Given the description of an element on the screen output the (x, y) to click on. 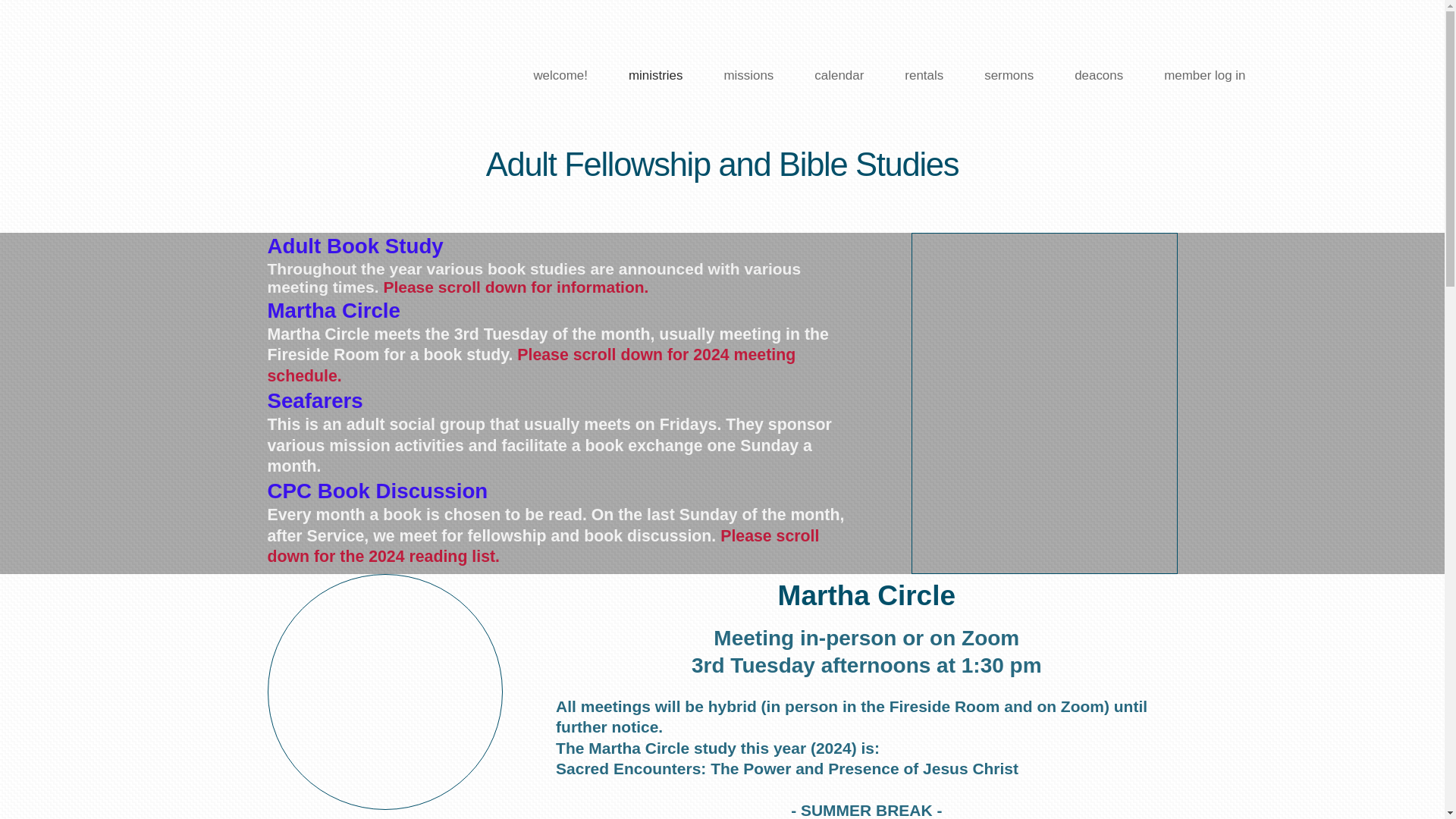
ministries (655, 75)
welcome! (560, 75)
